Given the description of an element on the screen output the (x, y) to click on. 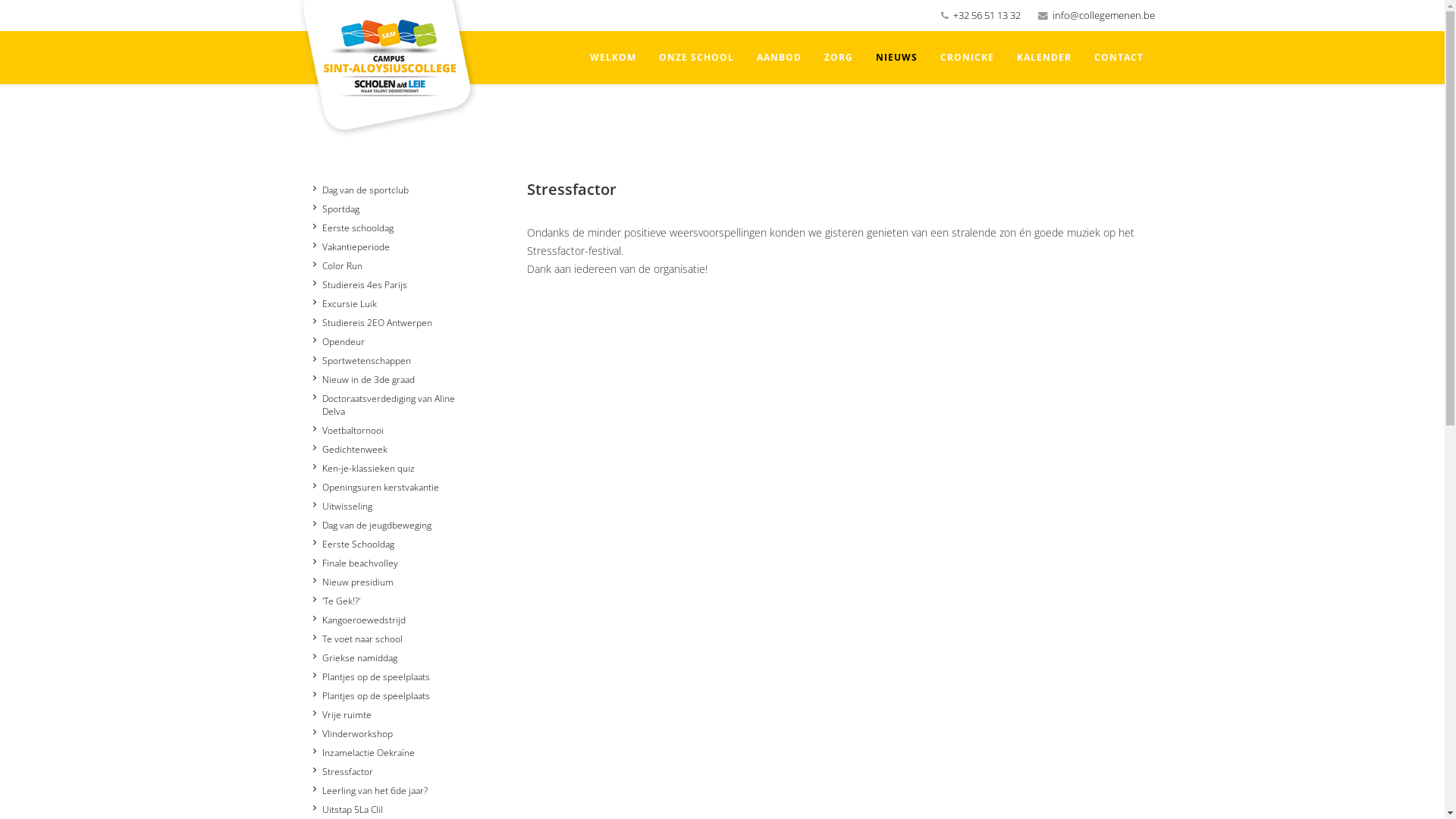
Leerling van het 6de jaar? Element type: text (369, 790)
AANBOD Element type: text (778, 57)
WELKOM Element type: text (611, 57)
Vakantieperiode Element type: text (350, 246)
Color Run Element type: text (336, 265)
Excursie Luik Element type: text (344, 303)
Dag van de jeugdbeweging Element type: text (371, 524)
Nieuw in de 3de graad Element type: text (363, 379)
Studiereis 4es Parijs Element type: text (359, 284)
Eerste schooldag Element type: text (352, 227)
Ken-je-klassieken quiz Element type: text (363, 468)
CONTACT Element type: text (1118, 57)
NIEUWS Element type: text (896, 57)
ONZE SCHOOL Element type: text (696, 57)
Uitstap 5La Clil Element type: text (347, 809)
Studiereis 2EO Antwerpen Element type: text (371, 322)
Plantjes op de speelplaats Element type: text (370, 676)
Plantjes op de speelplaats Element type: text (370, 695)
Dag van de sportclub Element type: text (359, 189)
Sportwetenschappen Element type: text (361, 360)
Voetbaltornooi Element type: text (347, 430)
Kangoeroewedstrijd Element type: text (358, 619)
Te voet naar school Element type: text (356, 638)
Vrije ruimte Element type: text (341, 714)
Nieuw presidium Element type: text (352, 581)
Gedichtenweek Element type: text (349, 449)
KALENDER Element type: text (1043, 57)
Vlinderworkshop Element type: text (352, 733)
Sportdag Element type: text (335, 208)
CRONICKE Element type: text (966, 57)
Stressfactor Element type: text (342, 771)
Doctoraatsverdediging van Aline Delva Element type: text (389, 404)
Eerste Schooldag Element type: text (352, 543)
Uitwisseling Element type: text (341, 505)
'Te Gek!?' Element type: text (335, 600)
Griekse namiddag Element type: text (354, 657)
info@collegemenen.be Element type: text (1103, 15)
+32 56 51 13 32 Element type: text (985, 15)
Openingsuren kerstvakantie Element type: text (375, 487)
Opendeur Element type: text (338, 341)
Finale beachvolley Element type: text (354, 562)
ZORG Element type: text (838, 57)
